Given the description of an element on the screen output the (x, y) to click on. 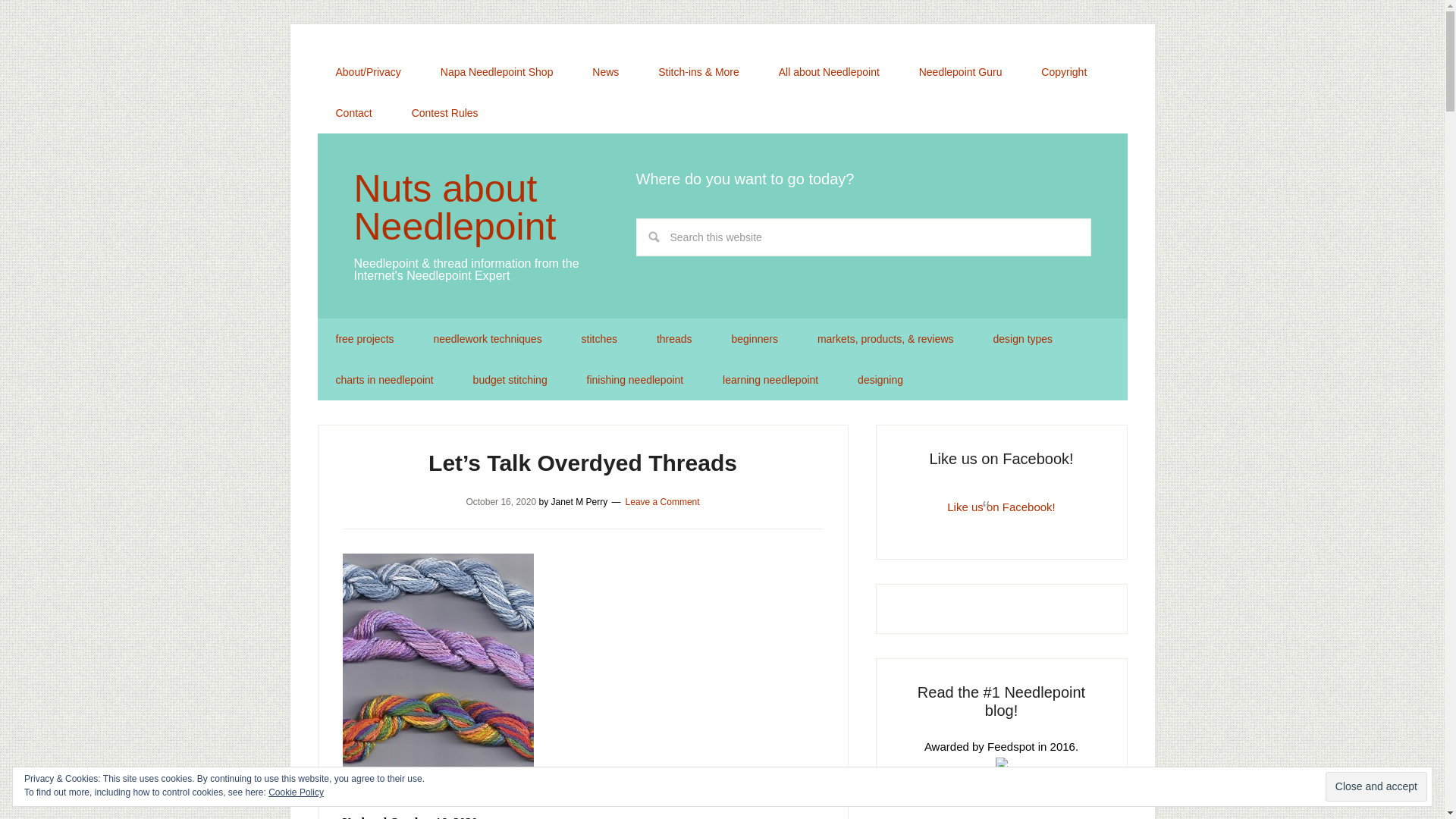
Needlepoint Guru (960, 71)
needlework techniques (486, 338)
Contest Rules (444, 112)
Close and accept (1375, 786)
free projects (364, 338)
All about Needlepoint (829, 71)
beginners (754, 338)
stitches (598, 338)
